Given the description of an element on the screen output the (x, y) to click on. 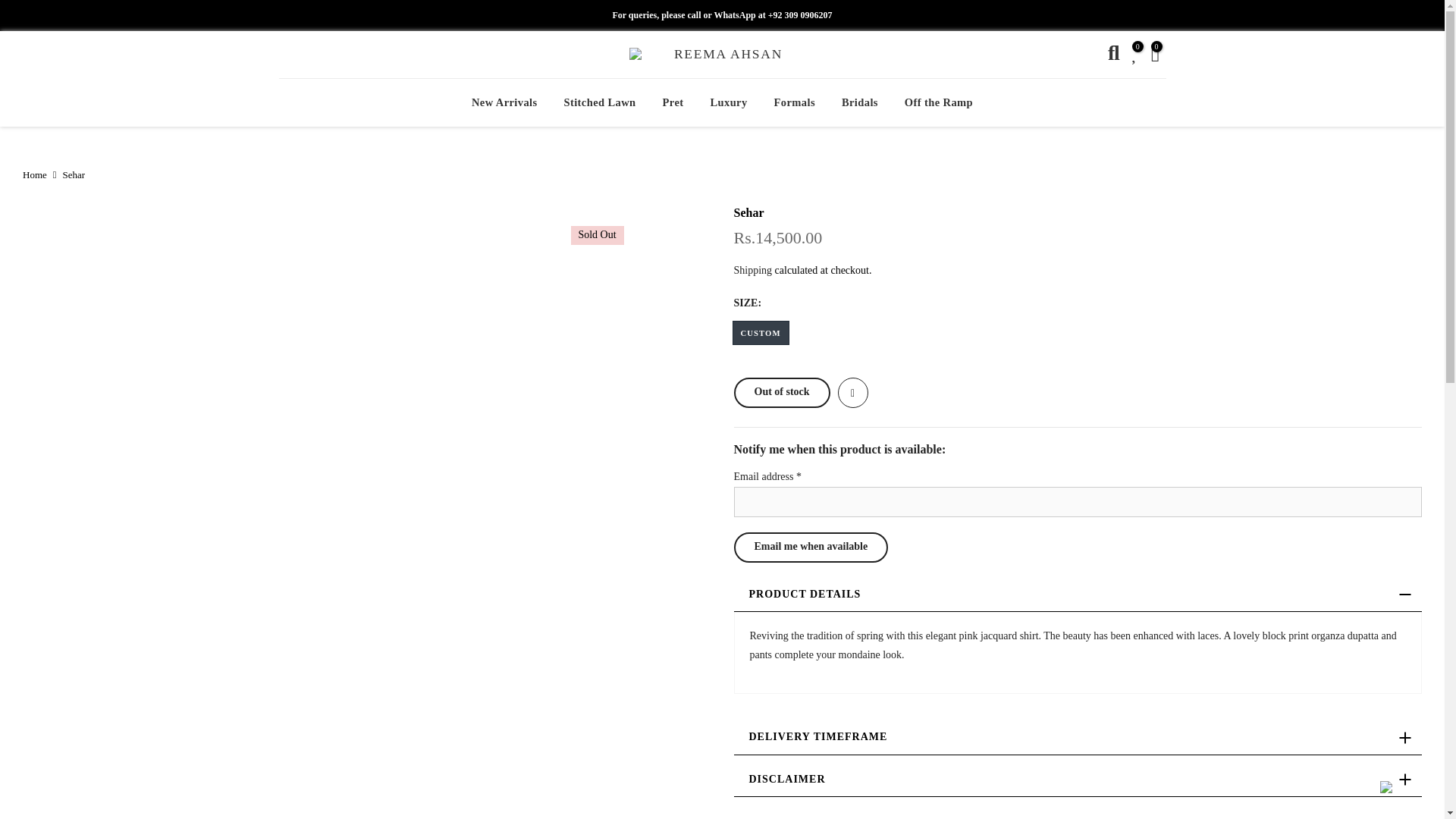
Stitched Lawn (599, 102)
Luxury (728, 102)
Formals (794, 102)
Pret (673, 102)
Email me when available (810, 547)
Home (34, 174)
Off the Ramp (938, 102)
New Arrivals (504, 102)
Bridals (859, 102)
